Given the description of an element on the screen output the (x, y) to click on. 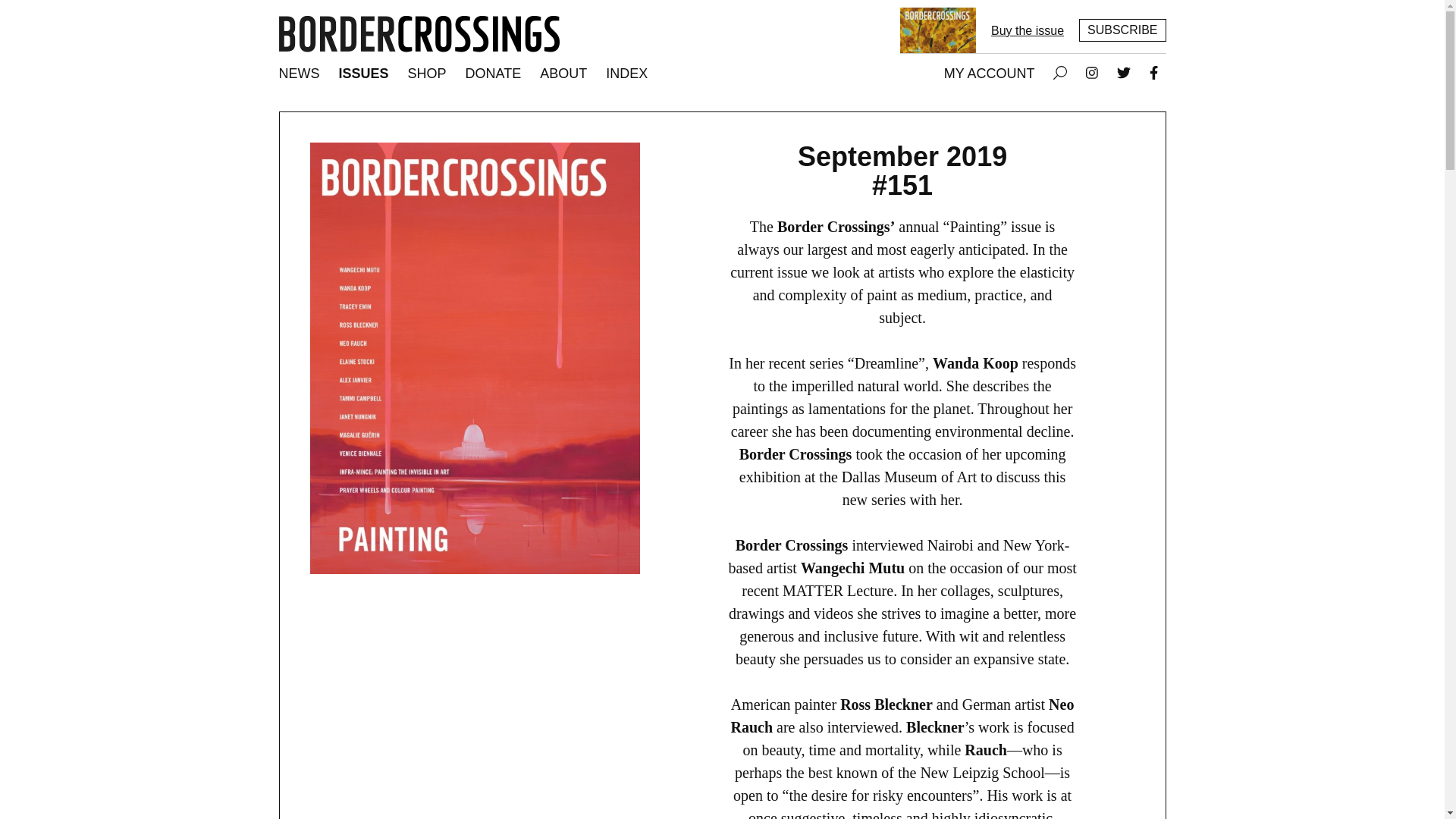
NEWS (298, 73)
CONNECT WITH US ON FACEBOOK (1153, 73)
Search (1059, 72)
FOLLOW US ON TWITTER (1123, 73)
Follow us on Twitter (1123, 72)
CONNECT WITH US ON INSTAGRAM (1091, 73)
ABOUT (563, 73)
DONATE (493, 73)
SEARCH (1059, 73)
ISSUES (363, 73)
Buy the issue (1027, 30)
FOLLOW US ON TWITTER (1123, 72)
MY ACCOUNT (989, 73)
SUBSCRIBE (1122, 29)
SHOP (427, 73)
